Given the description of an element on the screen output the (x, y) to click on. 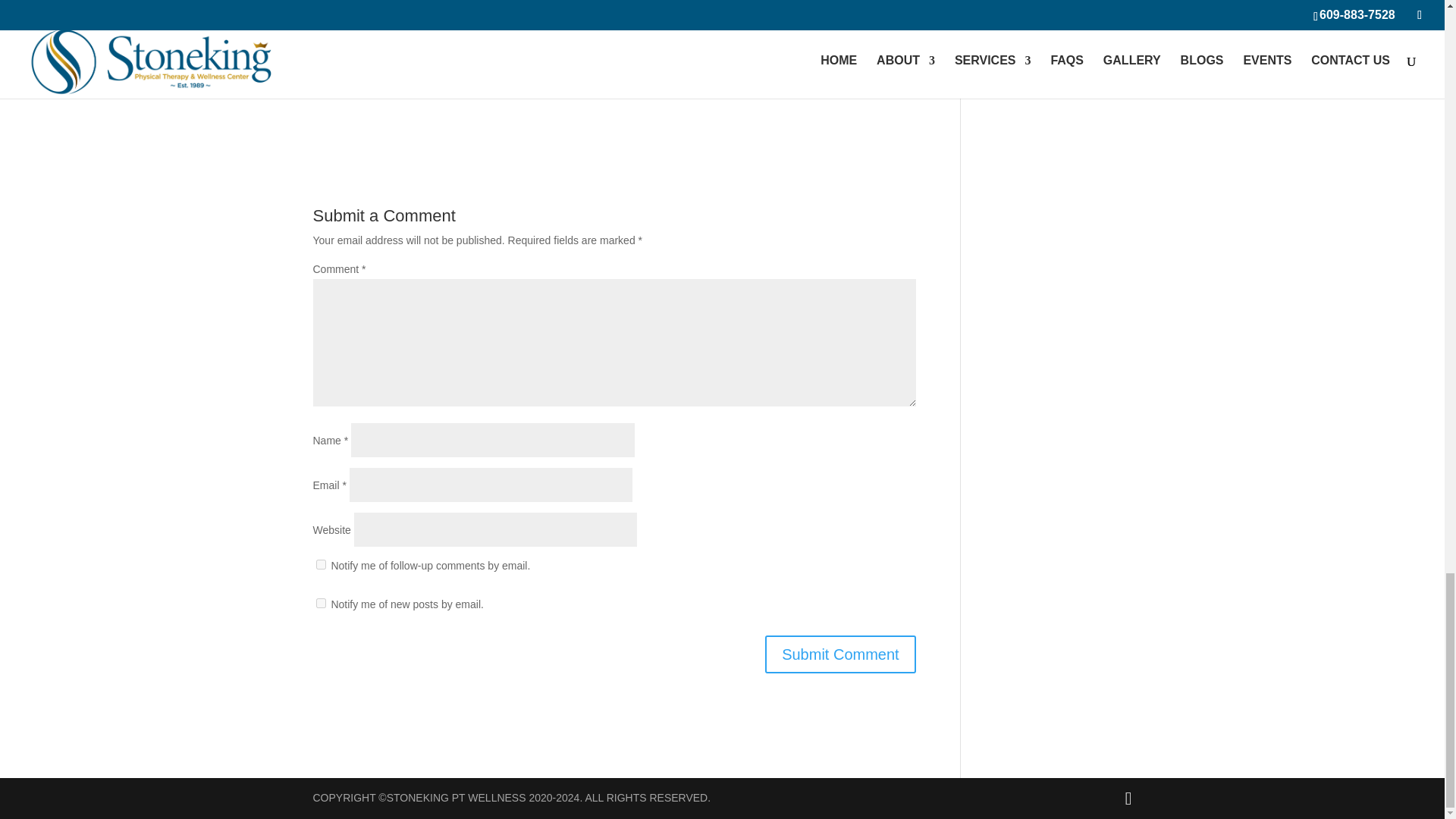
Submit Comment (840, 654)
subscribe (319, 603)
Submit Comment (840, 654)
subscribe (319, 564)
